Given the description of an element on the screen output the (x, y) to click on. 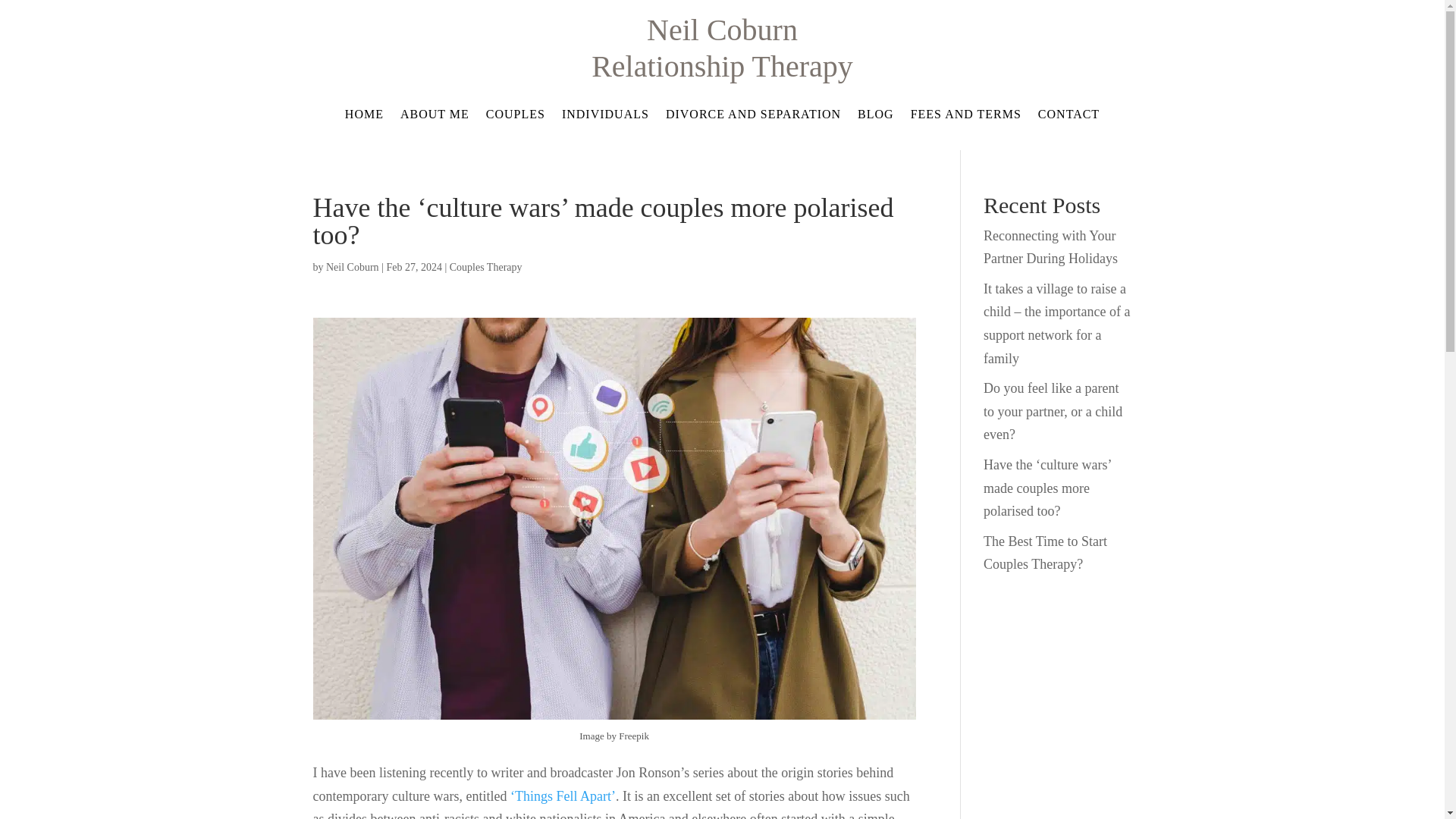
ABOUT ME (434, 117)
Posts by Neil Coburn (352, 266)
A couple each viewing social media on their phones (614, 708)
CONTACT (1068, 117)
FEES AND TERMS (966, 117)
Couples Therapy (485, 266)
DIVORCE AND SEPARATION (753, 117)
Do you feel like a parent to your partner, or a child even? (1053, 411)
Reconnecting with Your Partner During Holidays (1051, 247)
BLOG (875, 117)
HOME (364, 117)
The Best Time to Start Couples Therapy? (1045, 552)
Neil Coburn (352, 266)
COUPLES (515, 117)
INDIVIDUALS (605, 117)
